Given the description of an element on the screen output the (x, y) to click on. 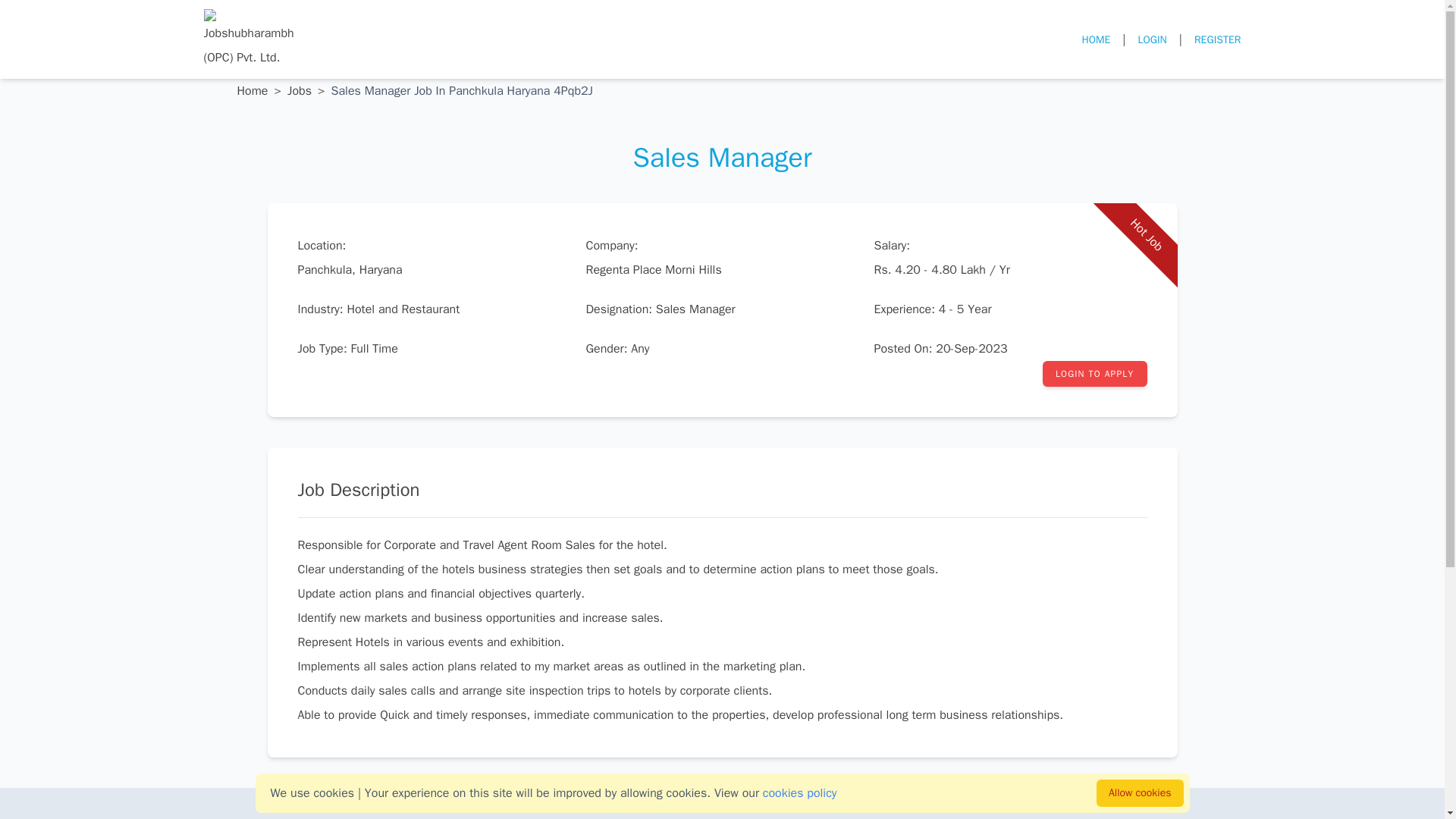
Jobs (298, 90)
LOGIN (1151, 39)
Home (251, 90)
cookies policy (799, 792)
HOME (1095, 39)
LOGIN TO APPLY (1094, 373)
Allow cookies (1139, 792)
REGISTER (1217, 39)
